Given the description of an element on the screen output the (x, y) to click on. 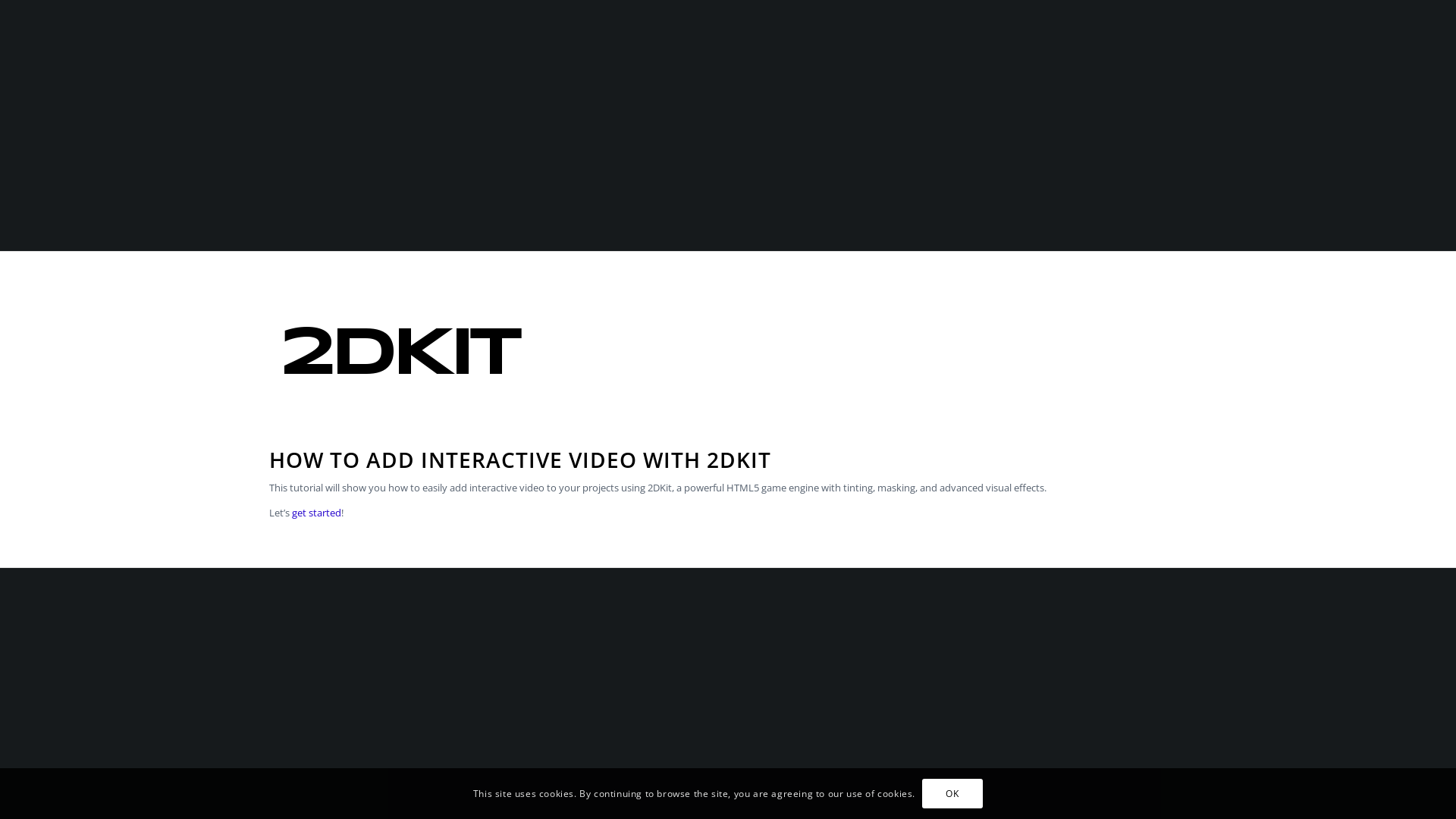
OK Element type: text (952, 792)
get started Element type: text (316, 512)
2DKit Element type: hover (401, 407)
